Given the description of an element on the screen output the (x, y) to click on. 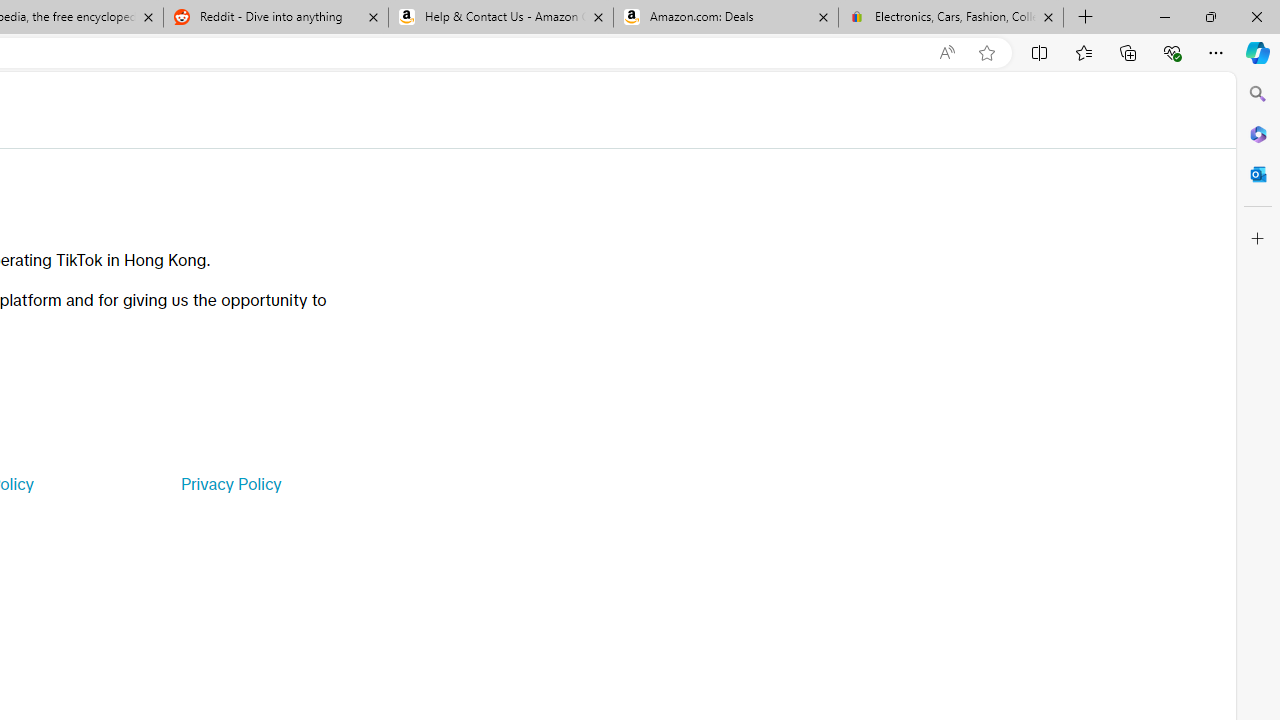
Amazon.com: Deals (726, 17)
Electronics, Cars, Fashion, Collectibles & More | eBay (950, 17)
Privacy Policy (230, 484)
Reddit - Dive into anything (275, 17)
Help & Contact Us - Amazon Customer Service (501, 17)
